Given the description of an element on the screen output the (x, y) to click on. 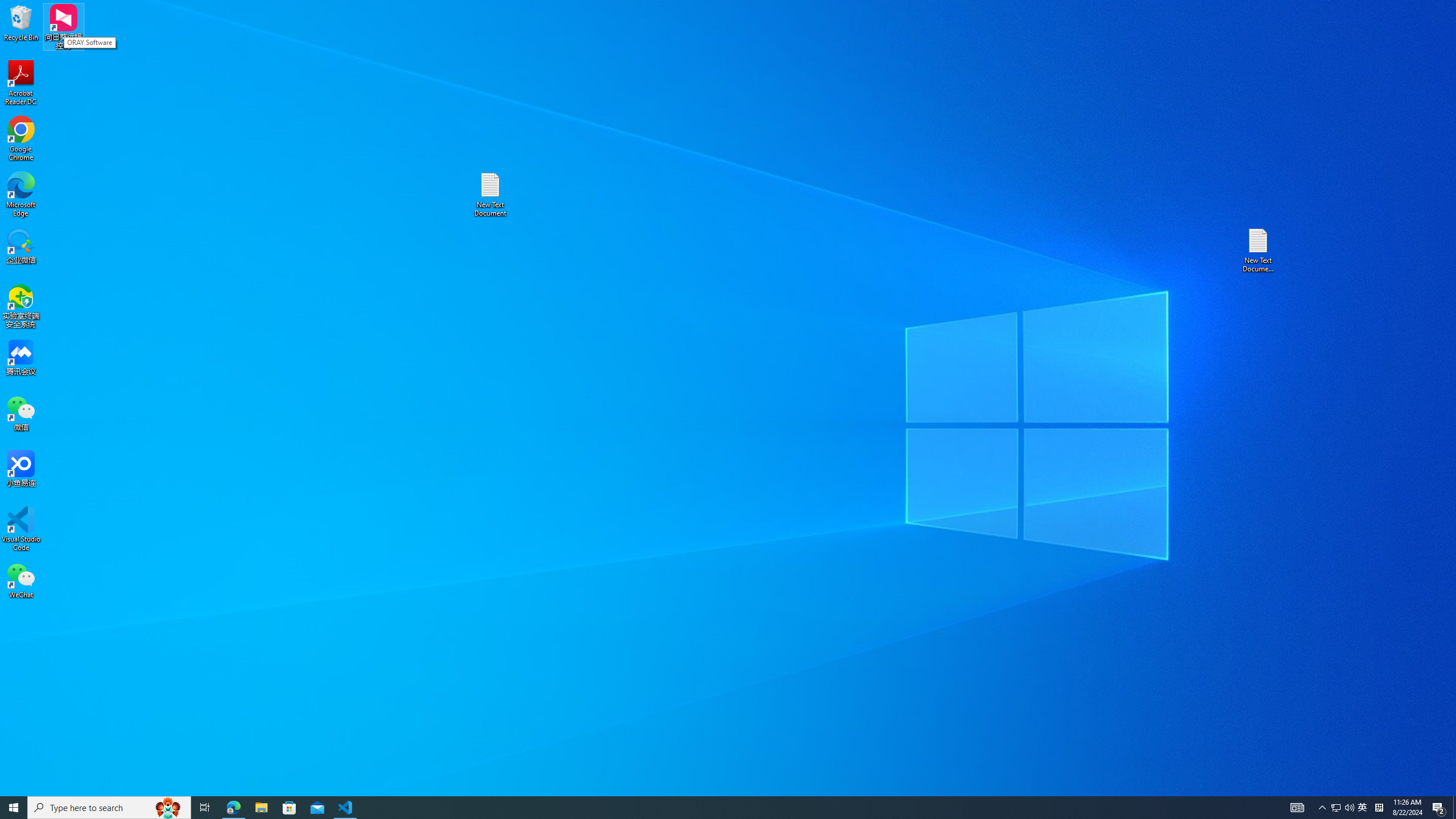
Action Center, 2 new notifications (1439, 807)
New Text Document (489, 194)
Running applications (707, 807)
Search highlights icon opens search home window (167, 807)
User Promoted Notification Area (1342, 807)
Google Chrome (21, 138)
Recycle Bin (1362, 807)
Tray Input Indicator - Chinese (Simplified, China) (21, 22)
Task View (1378, 807)
